Given the description of an element on the screen output the (x, y) to click on. 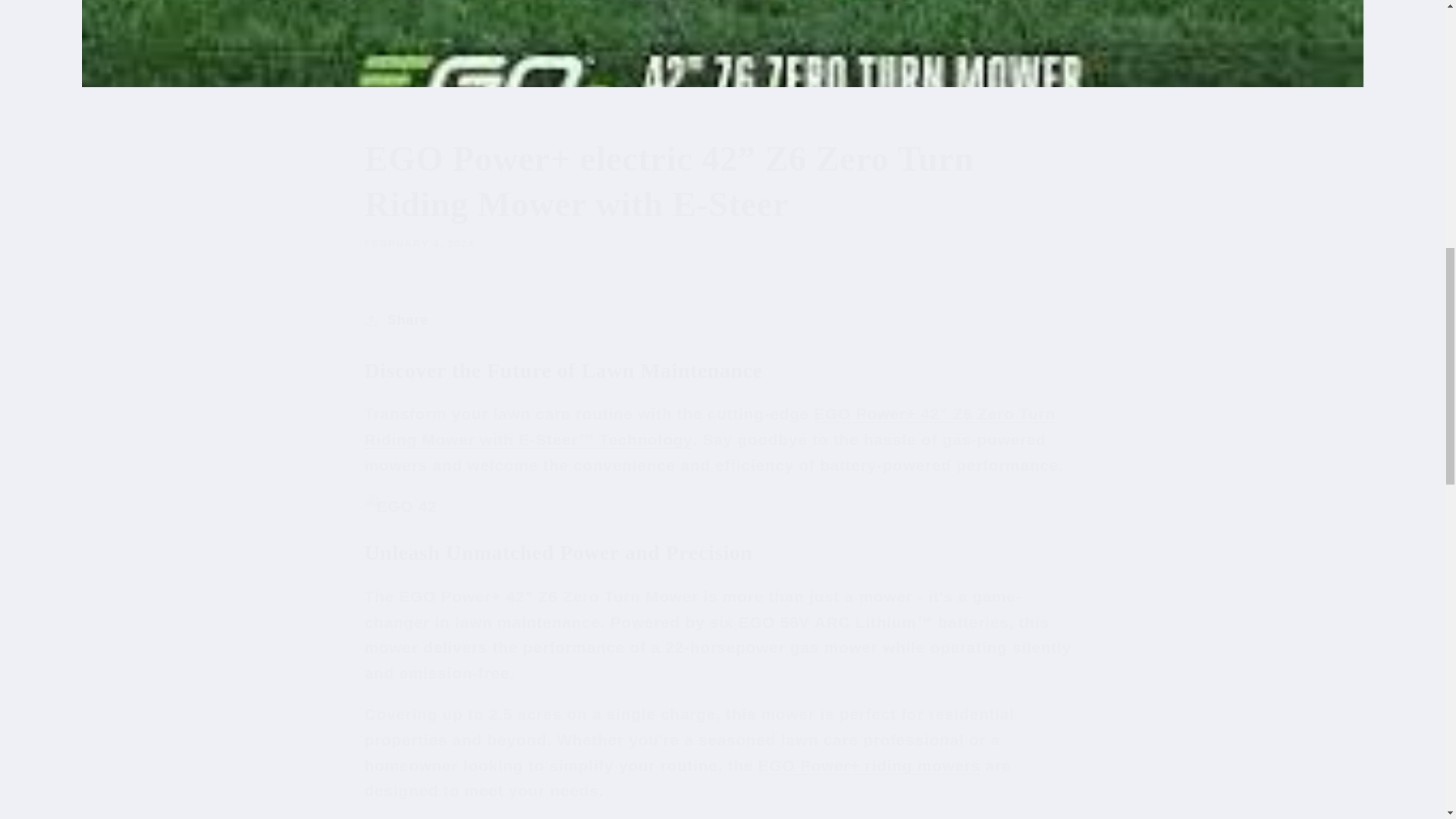
Share (722, 320)
